Given the description of an element on the screen output the (x, y) to click on. 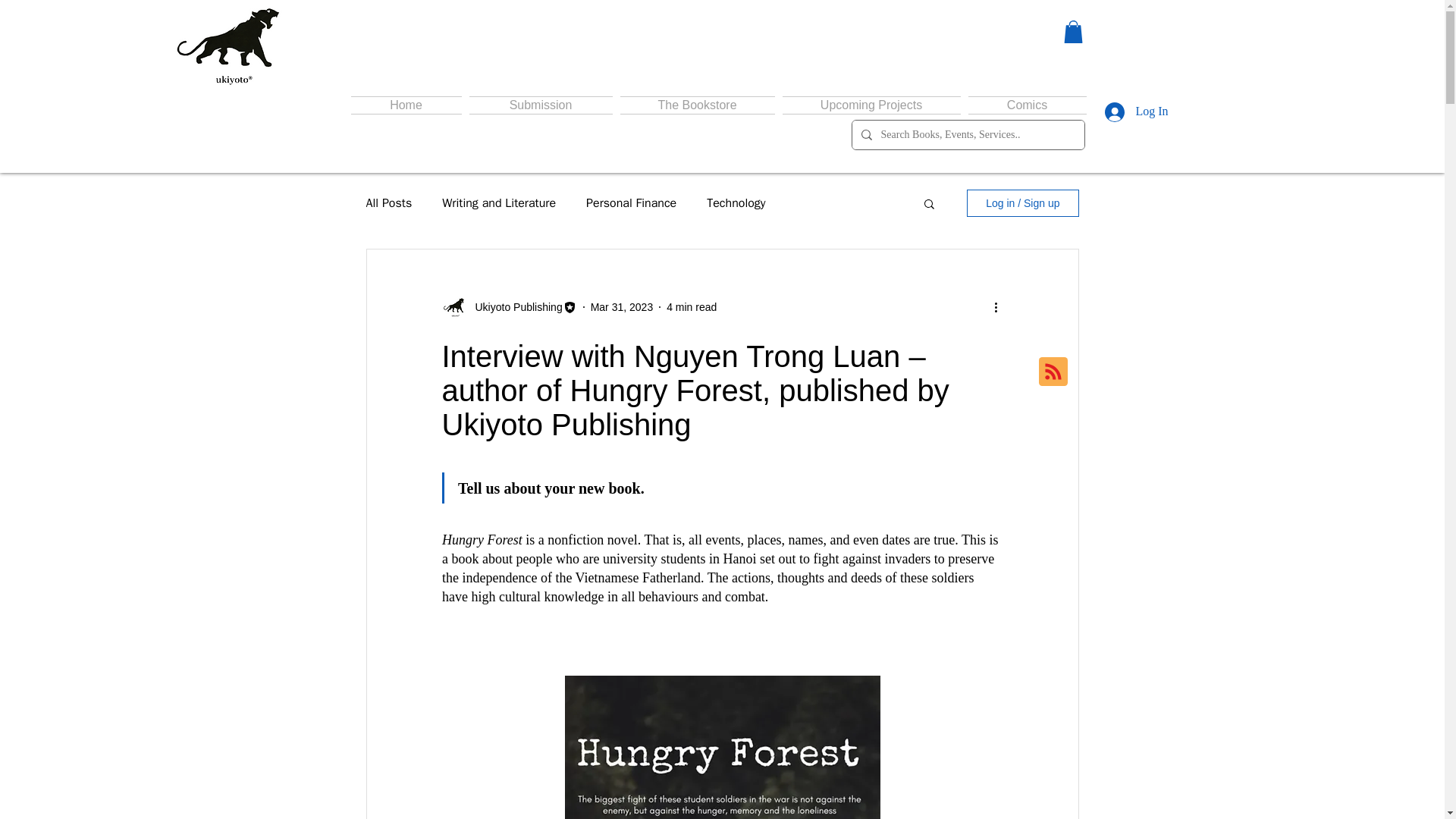
Personal Finance (631, 203)
Log In (1135, 111)
4 min read (691, 306)
Mar 31, 2023 (622, 306)
Ukiyoto Publishing (508, 306)
Writing and Literature (499, 203)
The Bookstore (696, 105)
Home (407, 105)
Technology (735, 203)
Ukiyoto Publishing (513, 306)
